Given the description of an element on the screen output the (x, y) to click on. 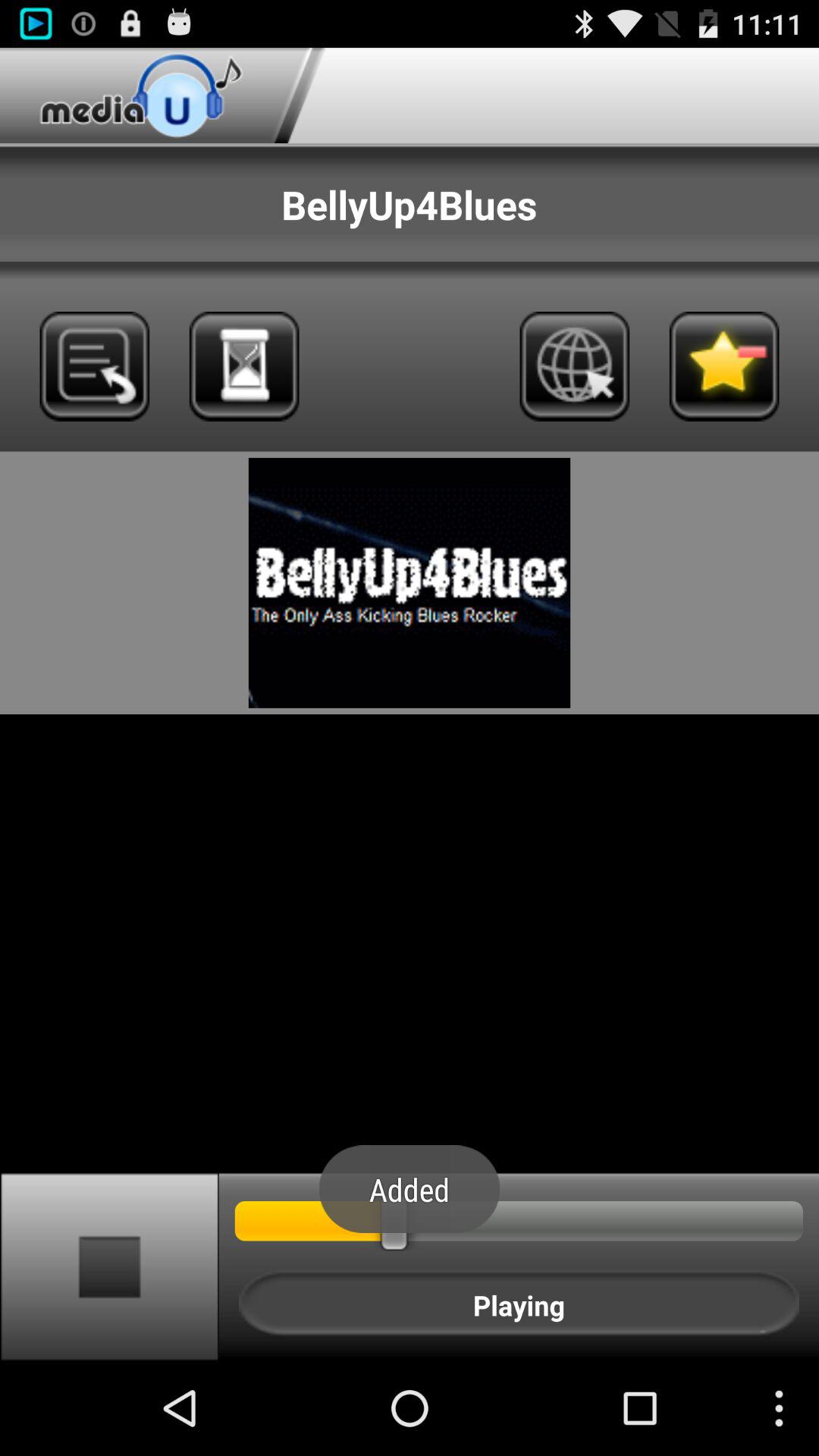
go timier button (244, 366)
